Given the description of an element on the screen output the (x, y) to click on. 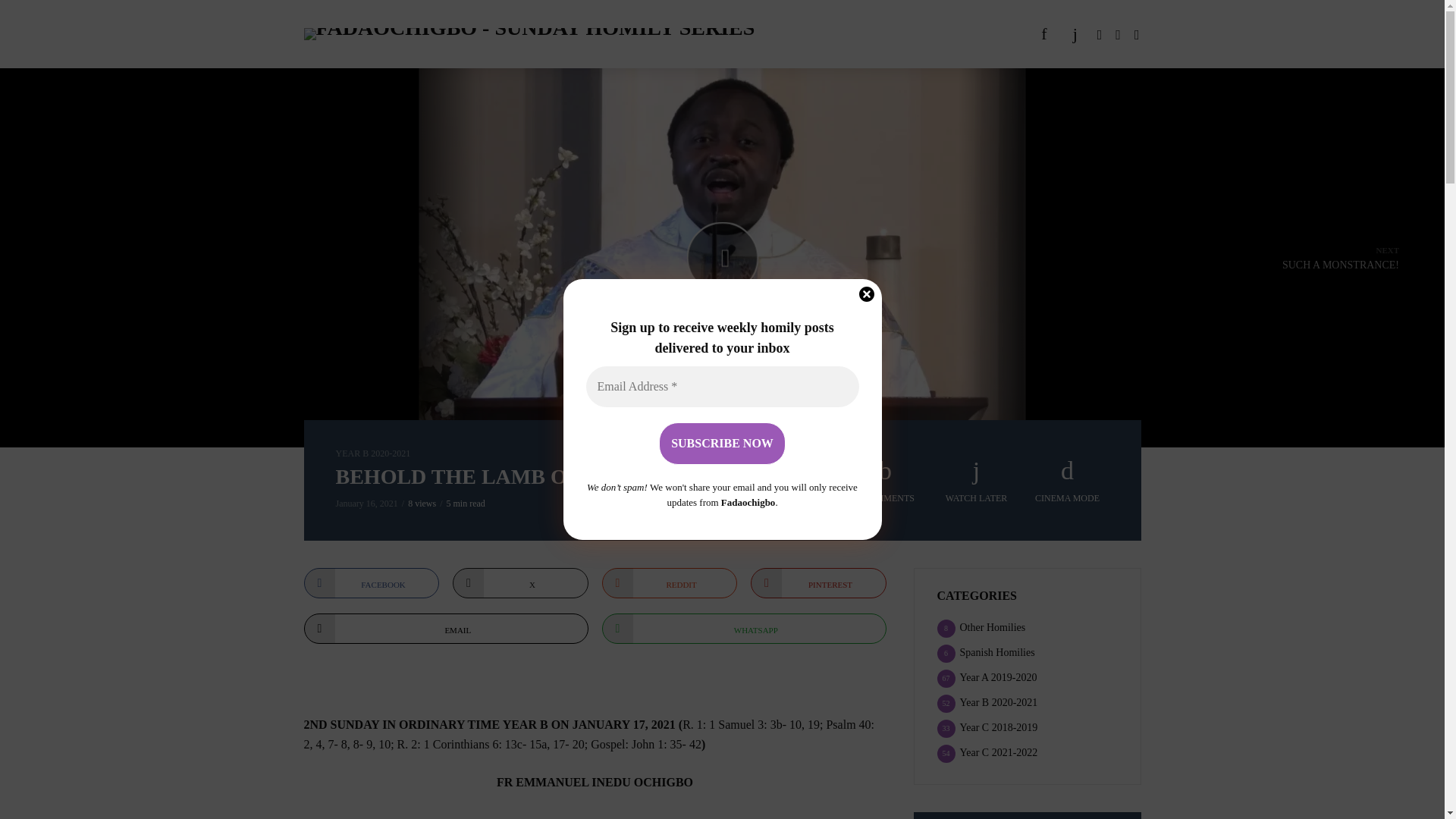
Subscribe Now (722, 443)
